Given the description of an element on the screen output the (x, y) to click on. 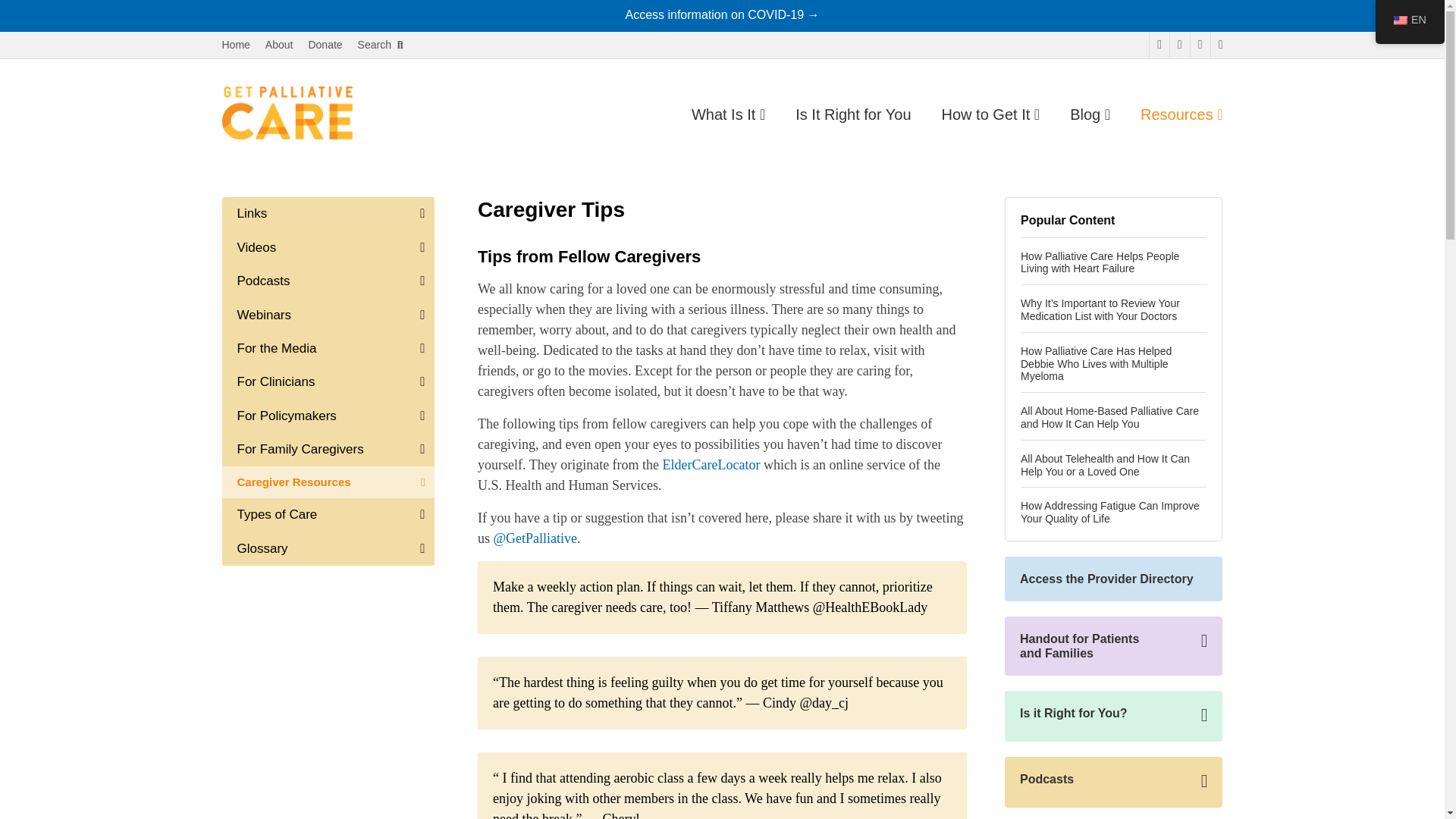
Home (234, 44)
English (1400, 20)
How to Get It (991, 114)
What Is It (728, 114)
Resources (1181, 114)
Search   (380, 44)
Is It Right for You (852, 114)
Videos (327, 247)
Blog (1089, 114)
Podcasts (327, 281)
Donate (324, 44)
About (279, 44)
Links (327, 213)
